Given the description of an element on the screen output the (x, y) to click on. 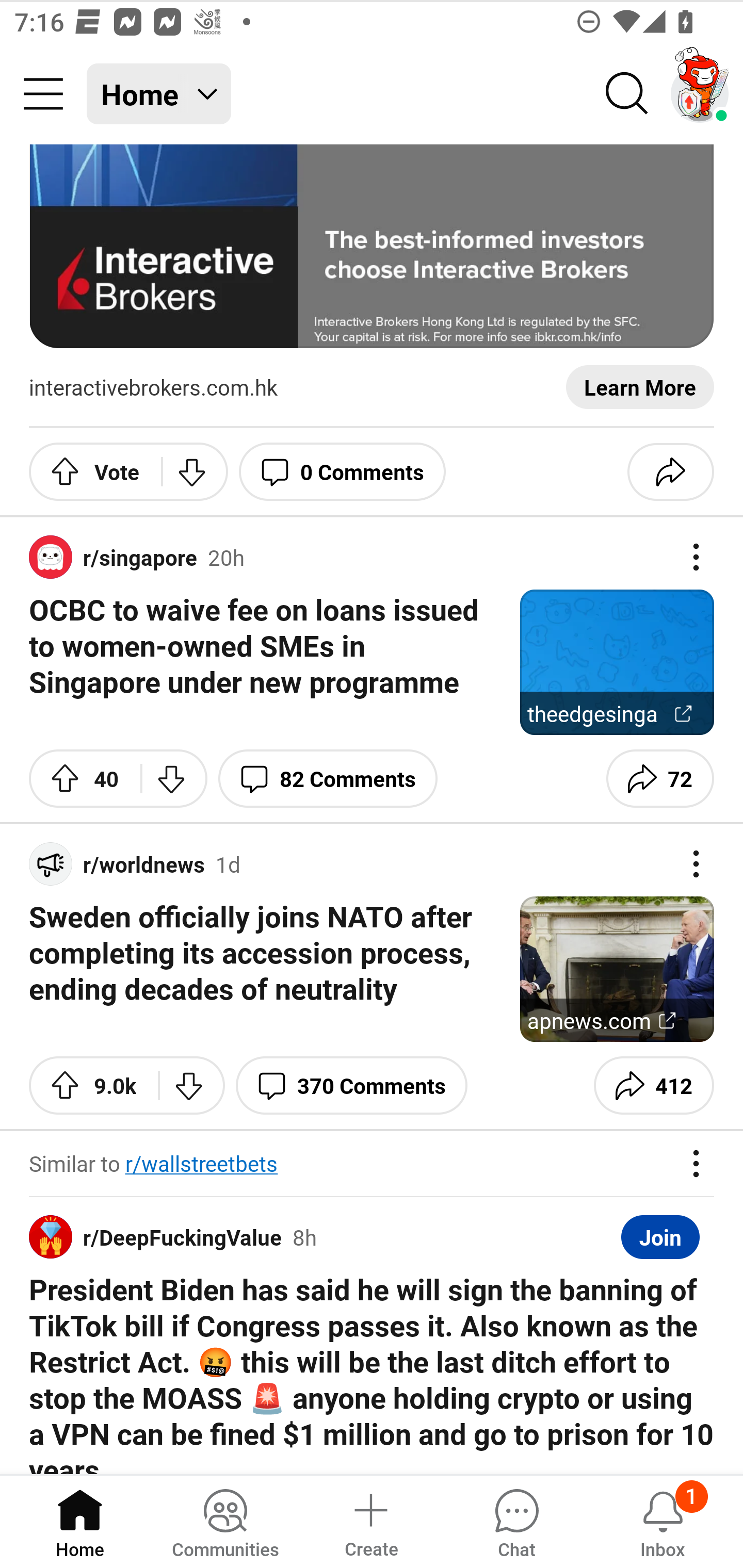
Community menu (43, 93)
Home Home feed (158, 93)
Search (626, 93)
TestAppium002 account (699, 93)
Home (80, 1520)
Communities (225, 1520)
Create a post Create (370, 1520)
Chat (516, 1520)
Inbox, has 1 notification 1 Inbox (662, 1520)
